Given the description of an element on the screen output the (x, y) to click on. 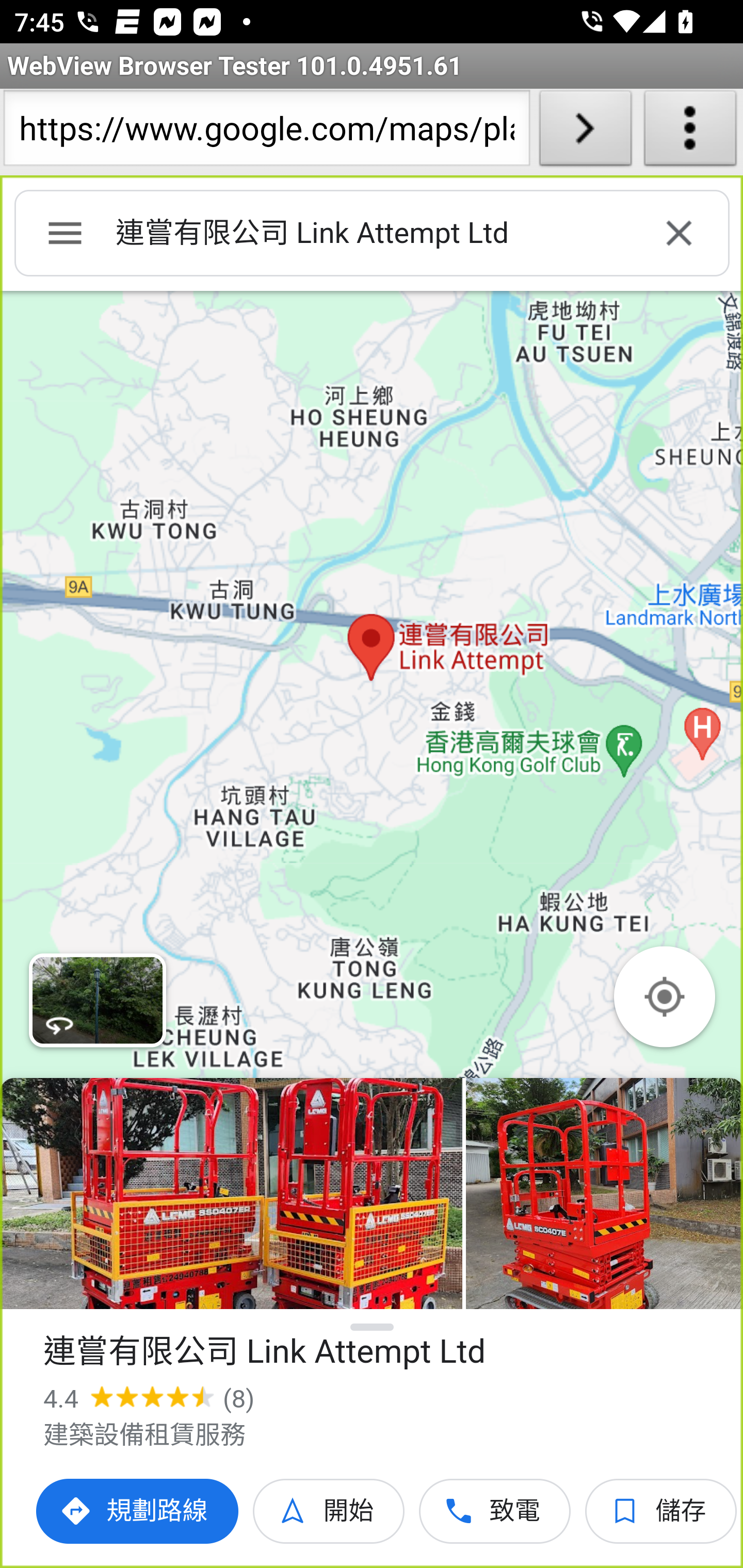
Load URL (585, 132)
About WebView (690, 132)
第 1 張相片 (共 9 張) (231, 1193)
第 2 張相片 (共 9 張) (604, 1193)
顯示詳細資料 (372, 1327)
前往連嘗有限公司 Link Attempt Ltd的路線 (137, 1511)
開始 (329, 1511)
致電「連嘗有限公司 Link Attempt Ltd」  致電 (495, 1511)
將「連嘗有限公司 Link Attempt Ltd」儲存至清單中 (661, 1511)
